Given the description of an element on the screen output the (x, y) to click on. 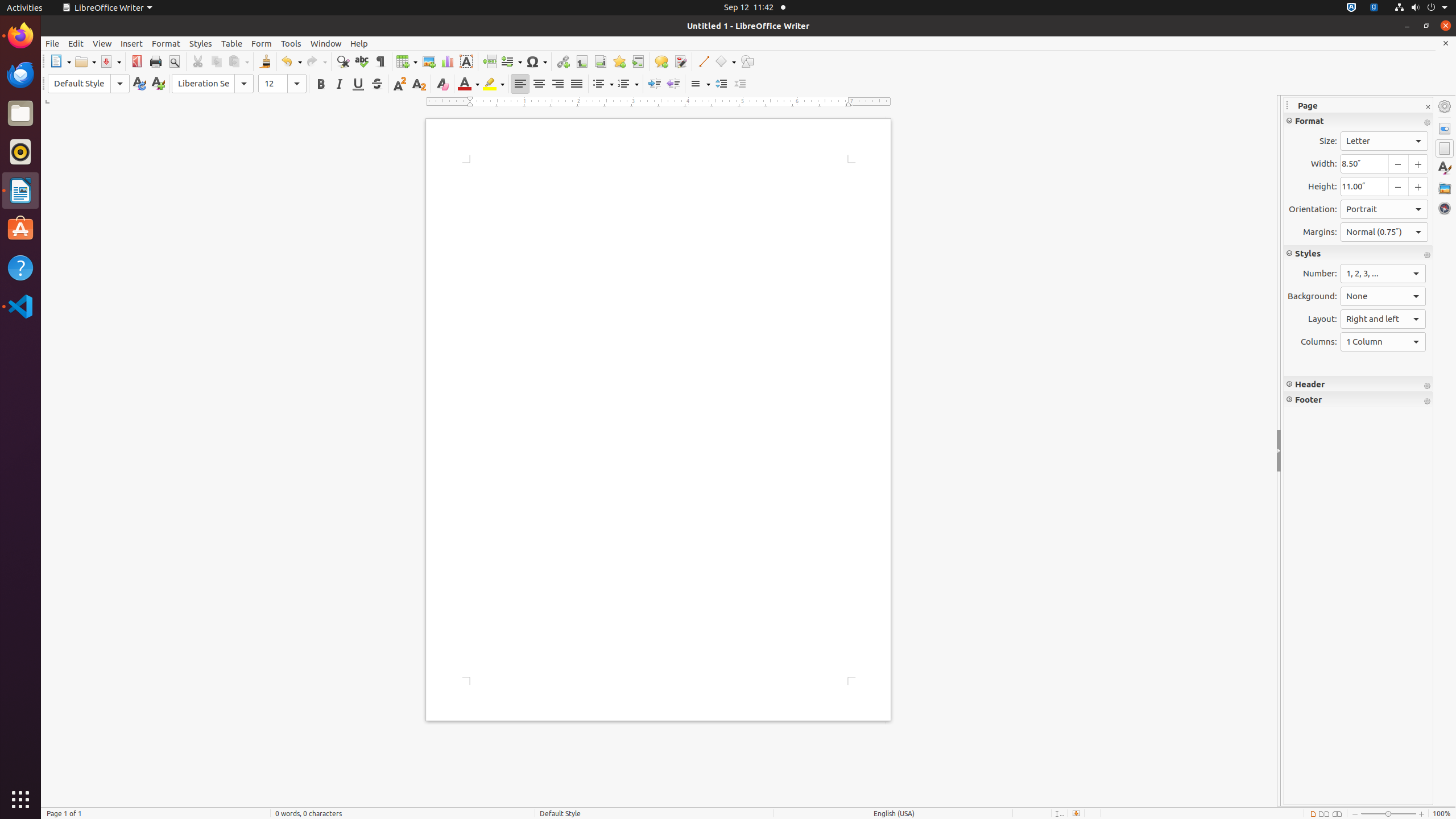
Window Element type: menu (325, 43)
Subscript Element type: toggle-button (418, 83)
Text Box Element type: push-button (465, 61)
Horizontal Ruler Element type: ruler (658, 101)
File Element type: menu (51, 43)
